Given the description of an element on the screen output the (x, y) to click on. 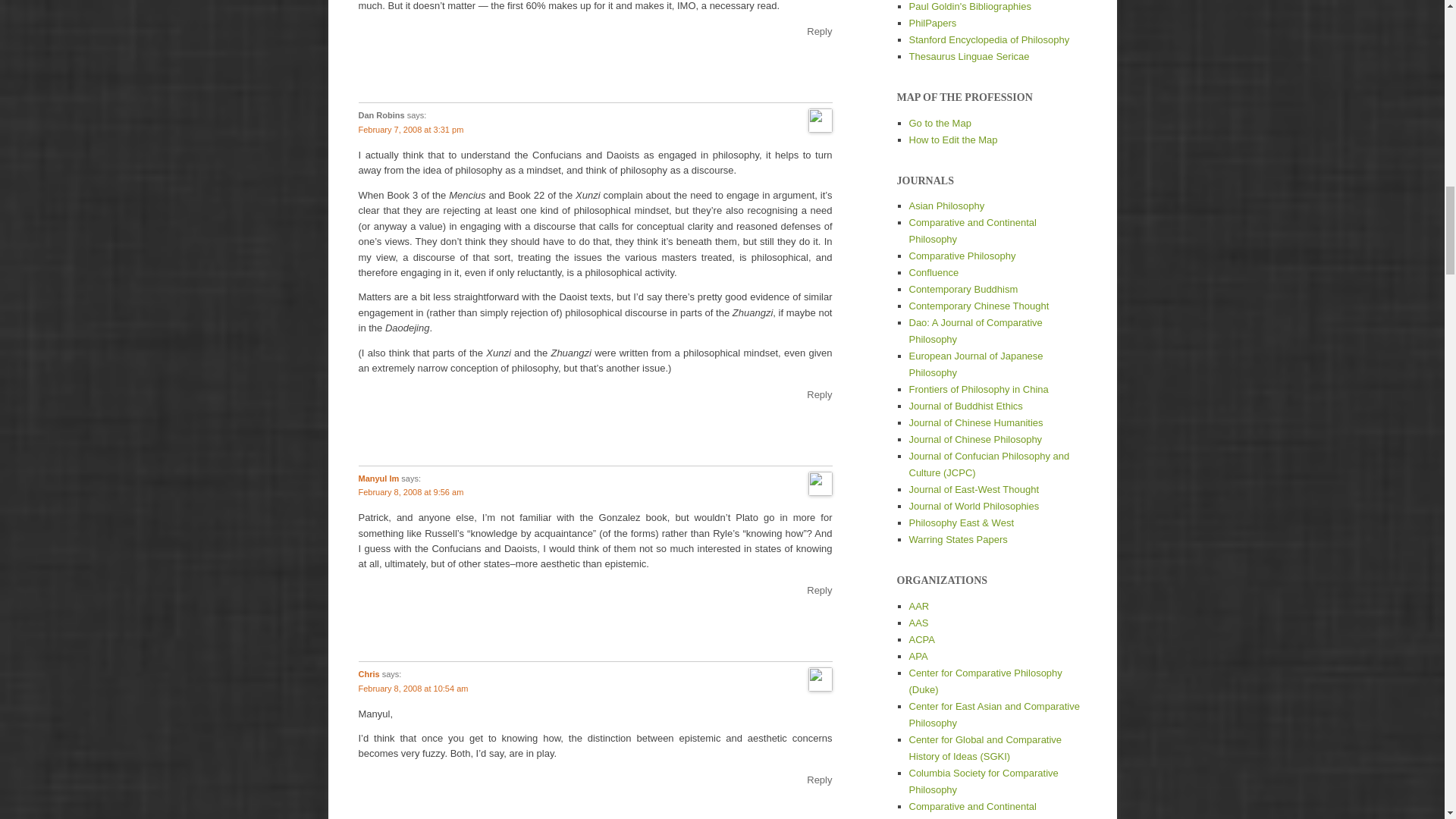
Reply (818, 590)
Reply (818, 394)
February 8, 2008 at 9:56 am (410, 491)
Reply (818, 30)
February 7, 2008 at 3:31 pm (410, 129)
Contemporary Chinese scholarship in English (975, 422)
Manyul Im (378, 478)
Reply (818, 779)
February 8, 2008 at 10:54 am (412, 687)
American Academy of Religion (918, 605)
Chris (368, 673)
